Given the description of an element on the screen output the (x, y) to click on. 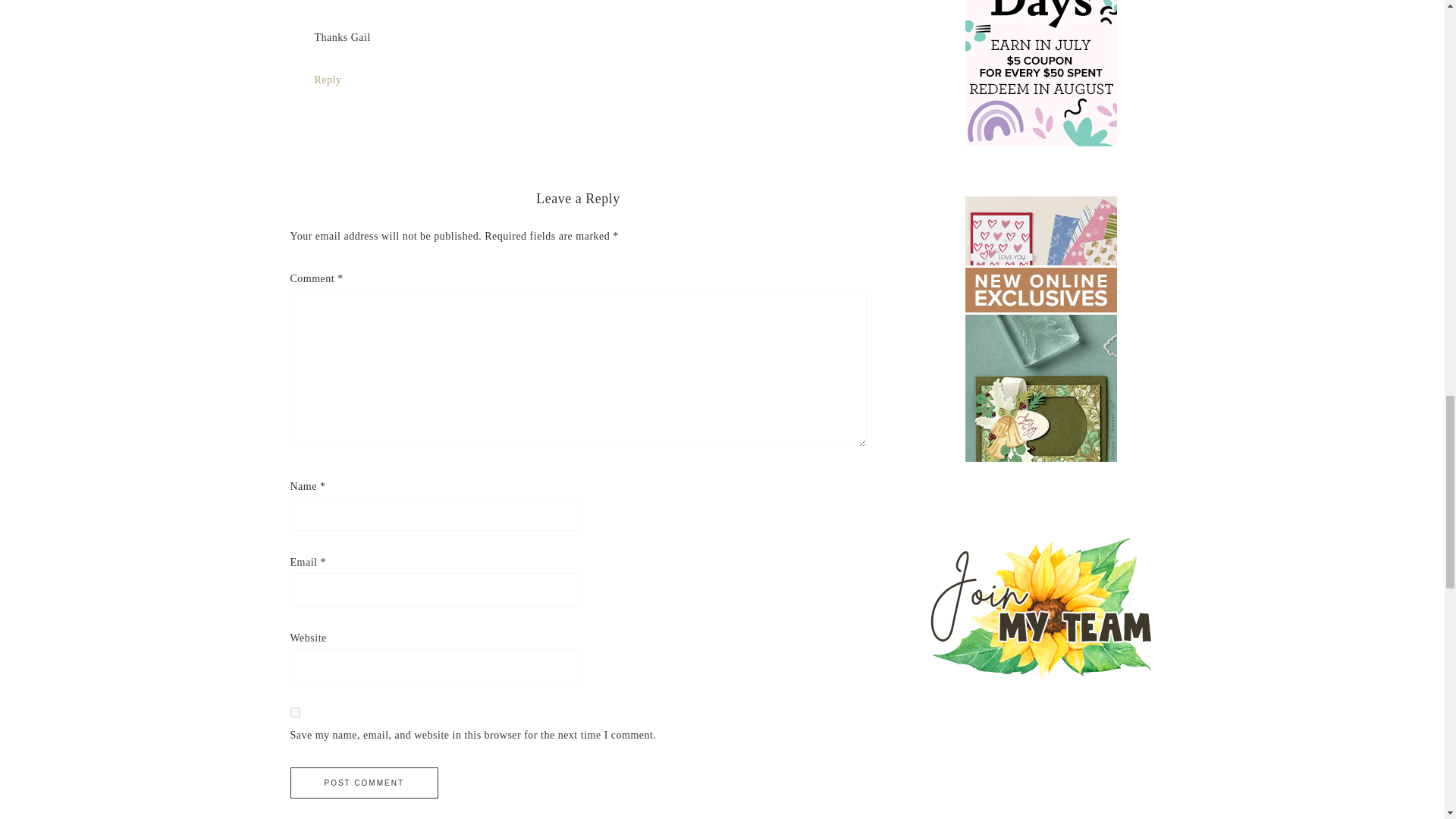
Post Comment (363, 782)
Reply (327, 79)
Post Comment (363, 782)
yes (294, 712)
